Given the description of an element on the screen output the (x, y) to click on. 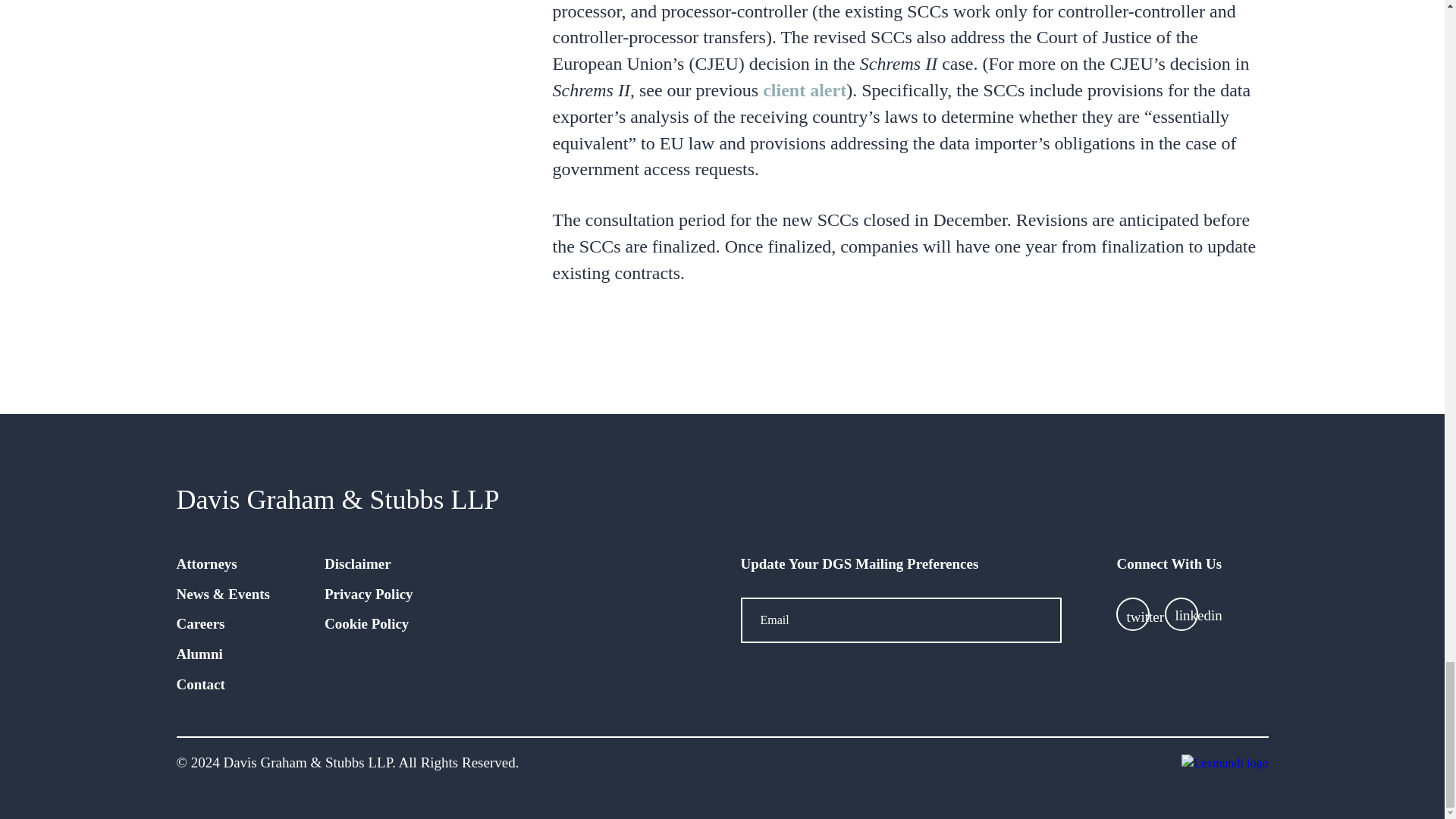
client alert (803, 89)
Attorneys (205, 563)
Careers (200, 623)
Alumni (199, 653)
